Given the description of an element on the screen output the (x, y) to click on. 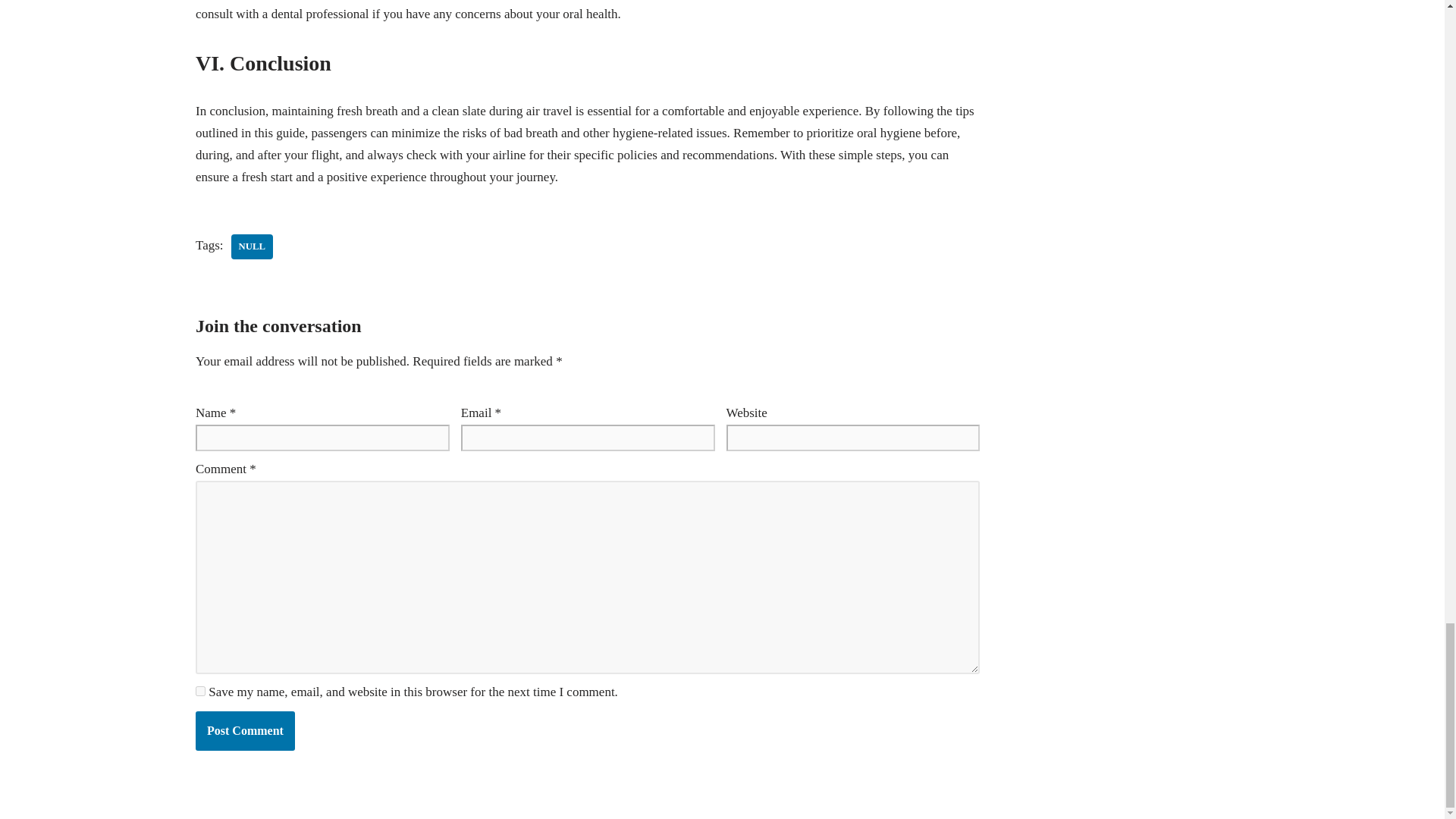
Post Comment (245, 731)
NULL (252, 246)
yes (200, 691)
Post Comment (245, 731)
null (252, 246)
